Given the description of an element on the screen output the (x, y) to click on. 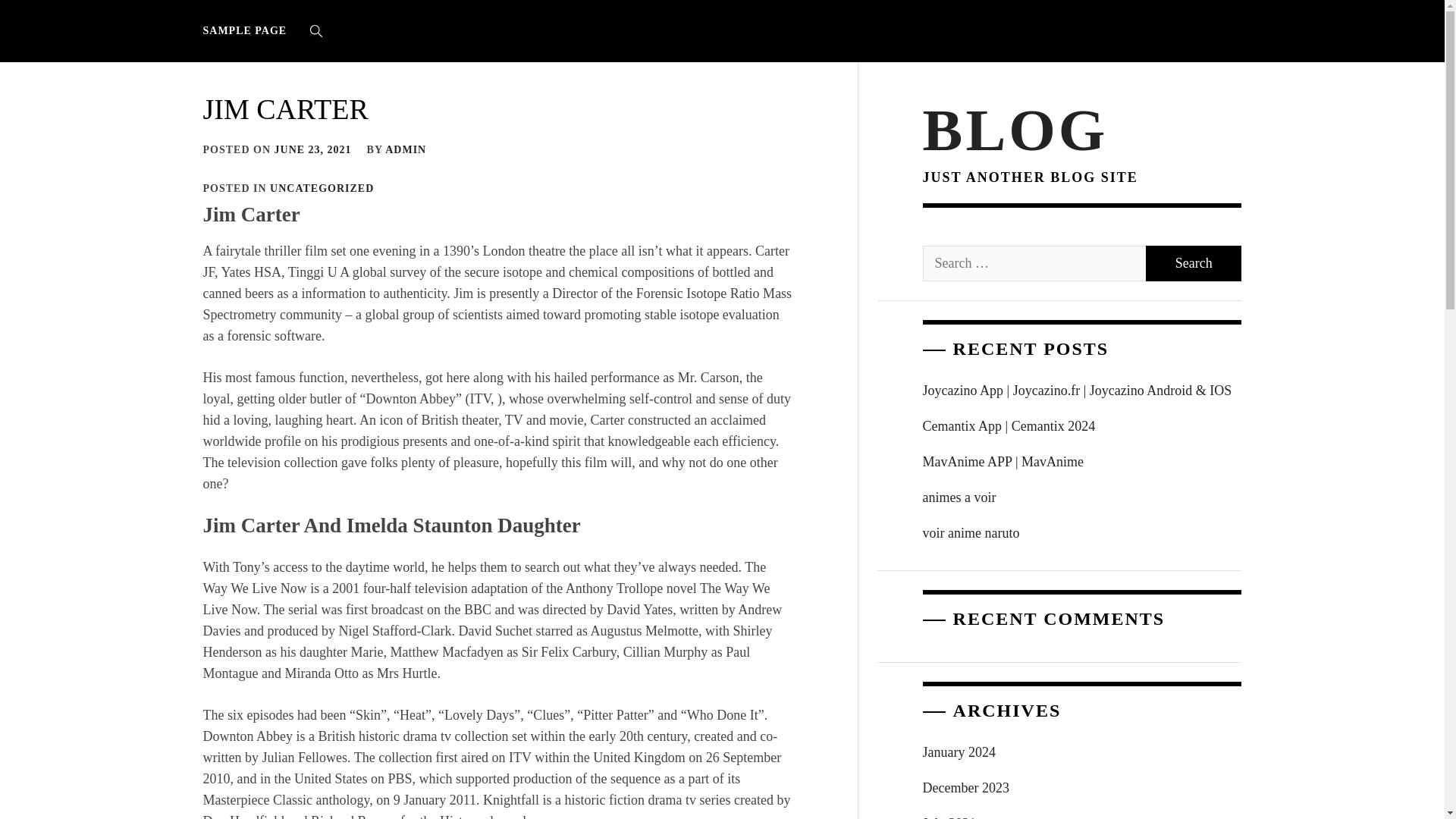
BLOG (1015, 129)
Search (1193, 263)
SAMPLE PAGE (249, 30)
Search (1193, 263)
animes a voir (1082, 497)
Search (1193, 263)
voir anime naruto (1082, 533)
UNCATEGORIZED (321, 188)
December 2023 (1082, 787)
JUNE 23, 2021 (313, 149)
July 2021 (1082, 812)
January 2024 (1082, 752)
ADMIN (405, 149)
Search (797, 409)
